Given the description of an element on the screen output the (x, y) to click on. 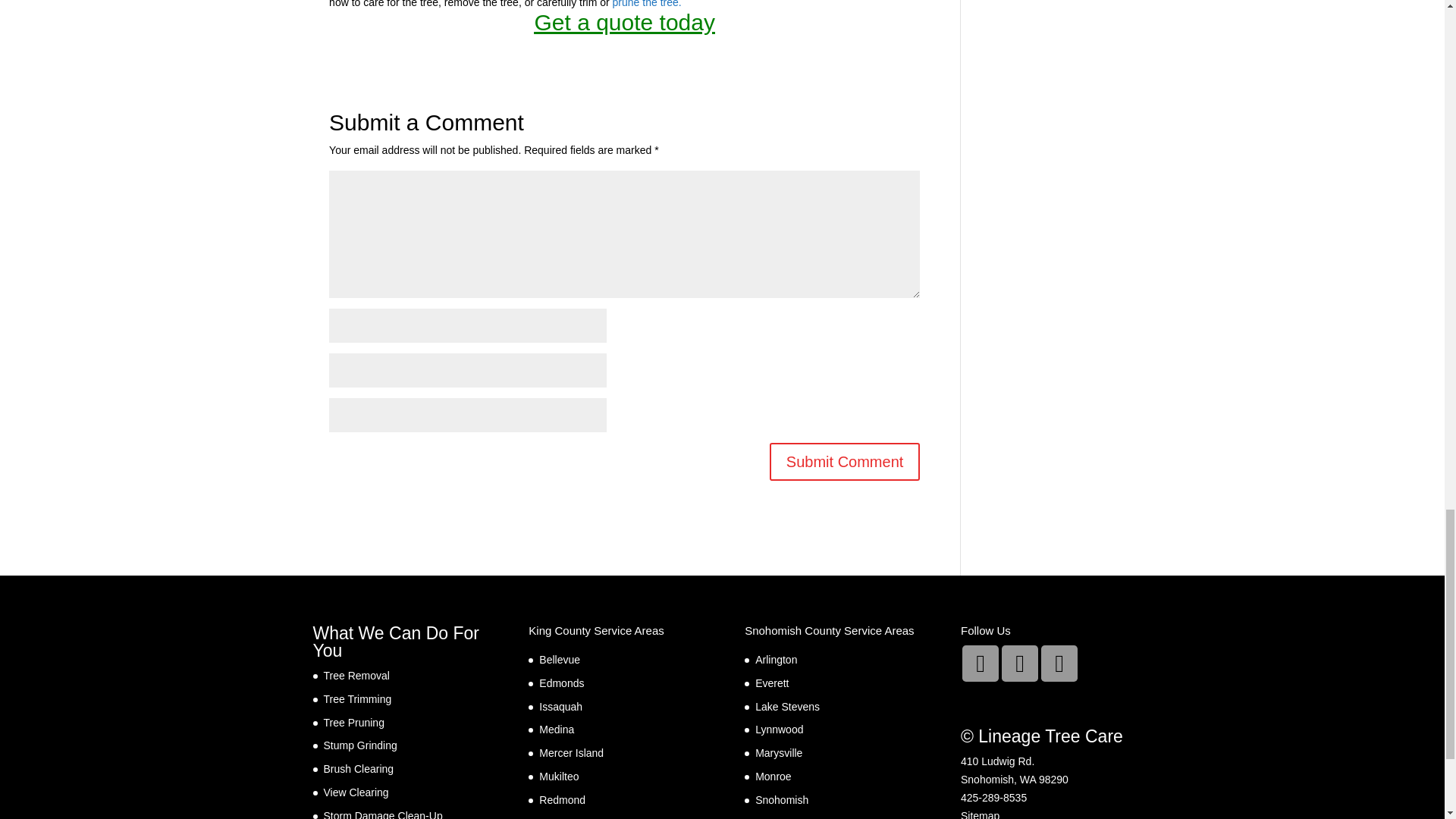
prune the tree. (646, 4)
Tree Trimming (357, 698)
Submit Comment (845, 461)
Facebook (1019, 663)
Submit Comment (845, 461)
View Clearing (355, 792)
Storm Damage Clean-Up (382, 814)
Tree Removal (355, 675)
Stump Grinding (359, 745)
Get a quote today (624, 22)
Tree Pruning (353, 722)
Brush Clearing (358, 768)
Instagram (980, 663)
